Given the description of an element on the screen output the (x, y) to click on. 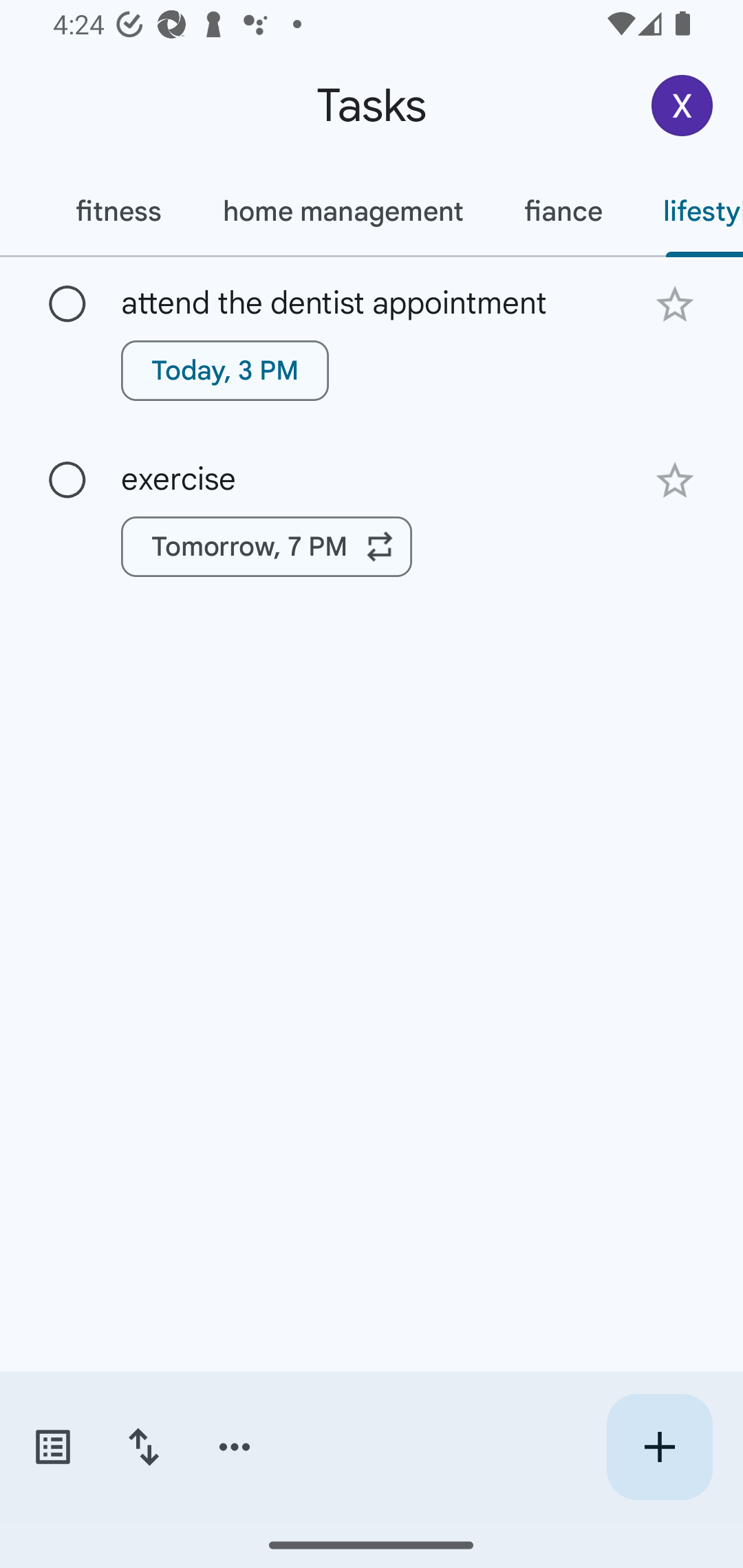
fitness (117, 211)
home management (342, 211)
fiance (562, 211)
Add star (674, 303)
Mark as complete (67, 304)
Today, 3 PM (225, 369)
Add star (674, 480)
Mark as complete (67, 480)
Tomorrow, 7 PM (266, 546)
Switch task lists (52, 1447)
Create new task (659, 1446)
Change sort order (143, 1446)
More options (234, 1446)
